Given the description of an element on the screen output the (x, y) to click on. 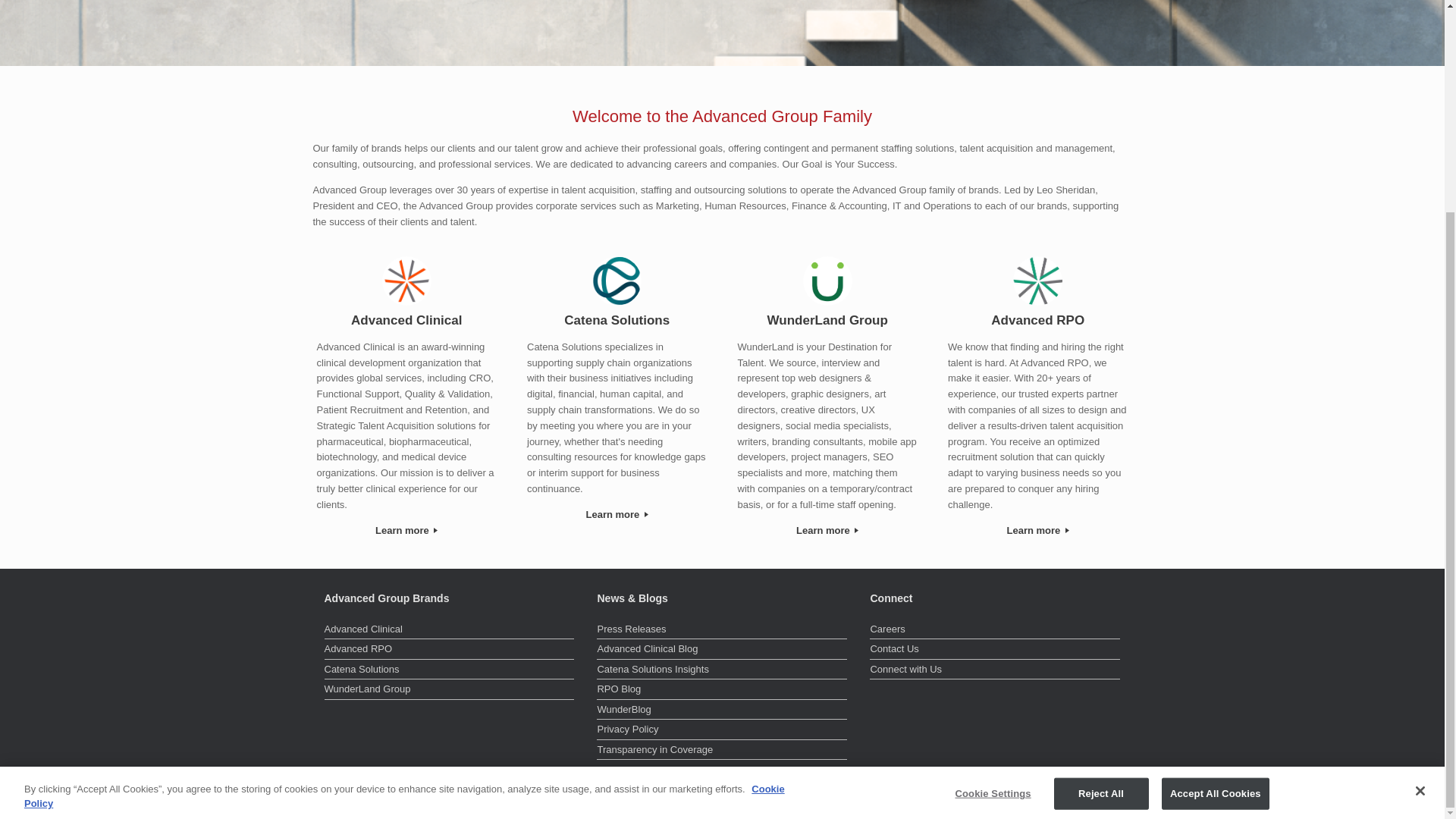
Press Releases (721, 630)
Advanced Clinical Blog (721, 650)
Advanced Clinical (407, 320)
Advanced RPO (449, 650)
Learn more (617, 514)
Catena Solutions (449, 670)
Transparency in Coverage (721, 751)
WunderLand Group (449, 690)
Learn more (407, 530)
Connect with Us (994, 670)
Advanced RPO (1037, 320)
Advanced Clinical (449, 630)
RPO Blog (721, 690)
Catena Solutions (617, 320)
Catena Solutions Insights (721, 670)
